Given the description of an element on the screen output the (x, y) to click on. 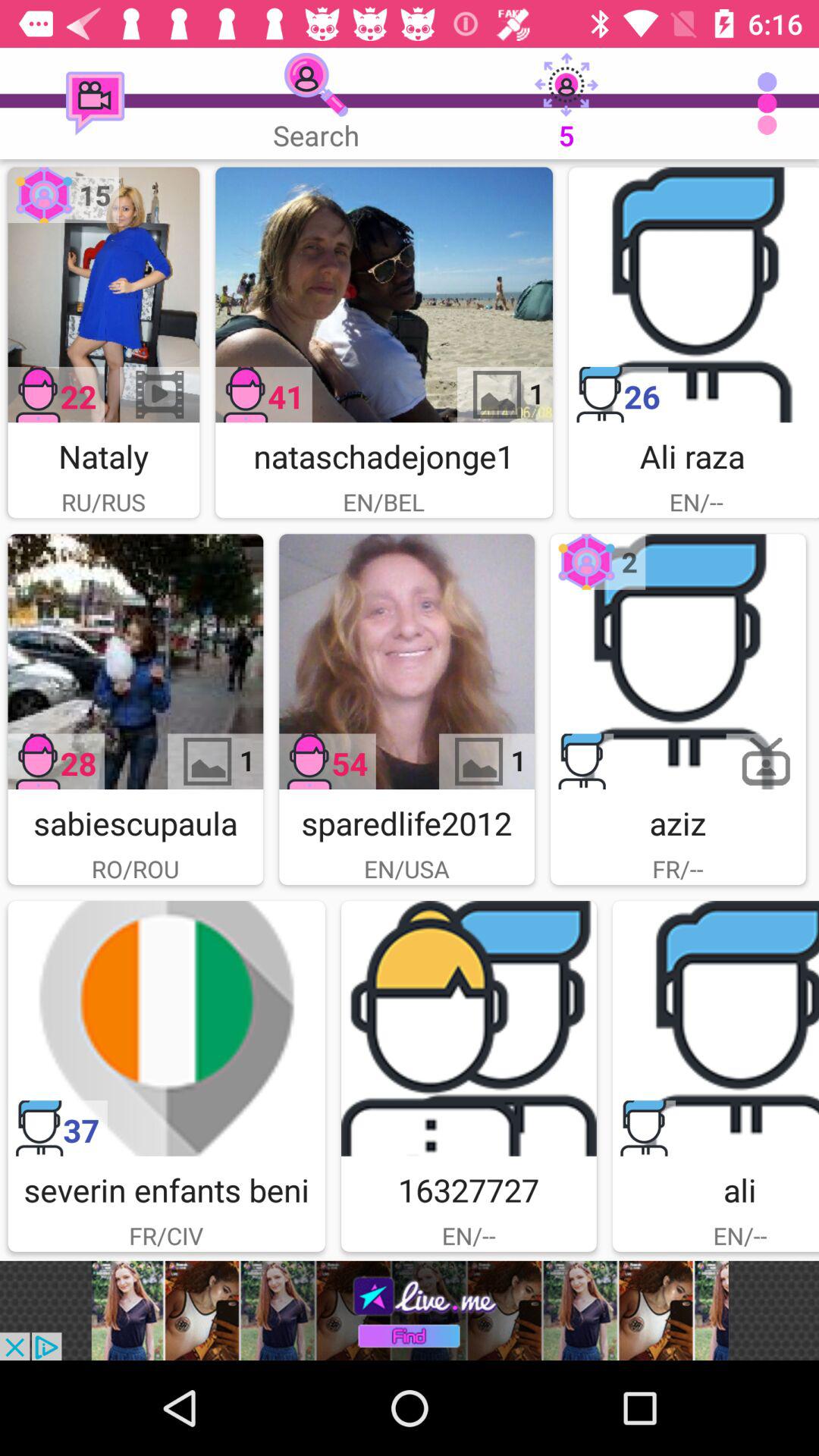
advertisement (715, 1028)
